Given the description of an element on the screen output the (x, y) to click on. 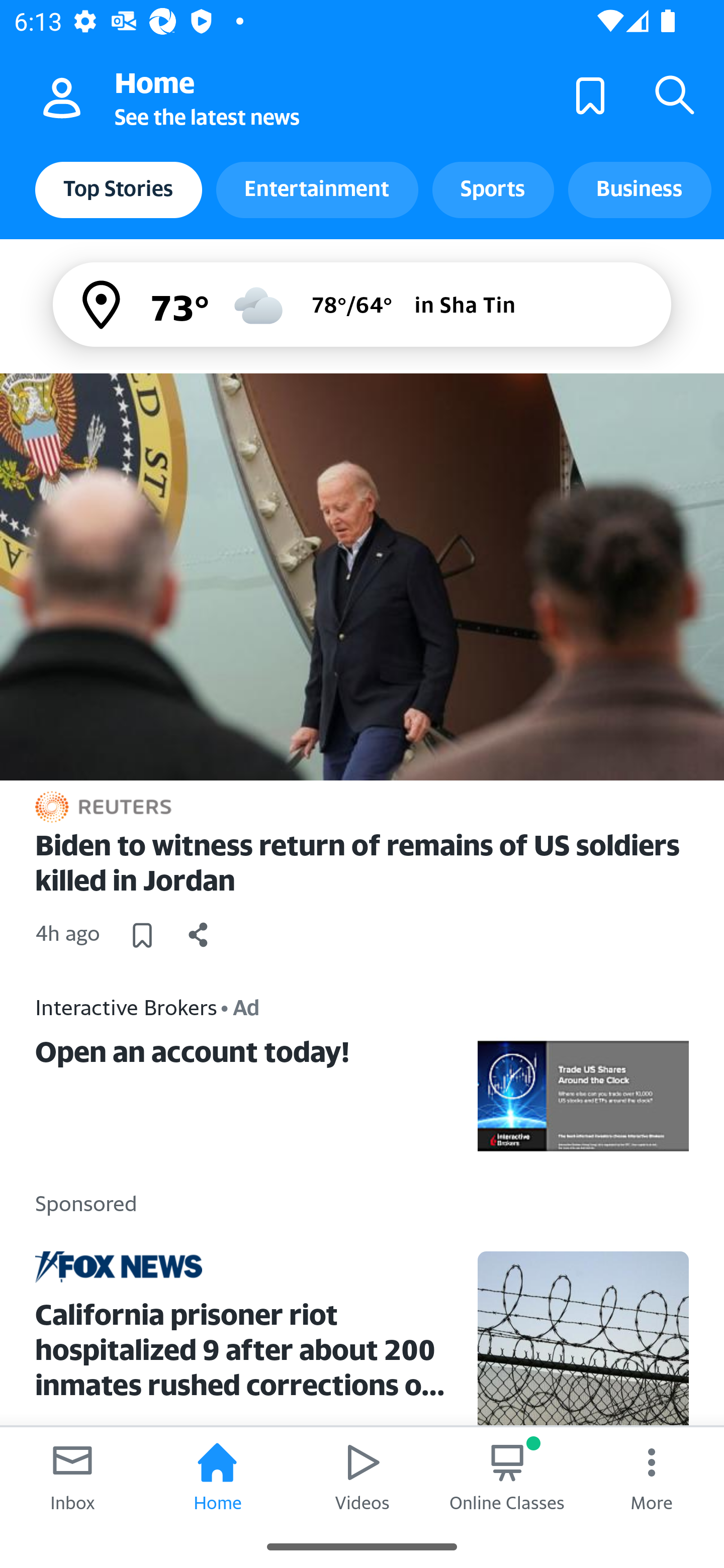
Access your saved articles (590, 94)
Search (674, 94)
Entertainment (317, 189)
Sports (492, 189)
Business (639, 189)
allow accurate location 73° 78°/64° in Sha Tin (361, 303)
allow accurate location (102, 304)
Save this article (142, 934)
Share this news article (198, 934)
• Ad (240, 1006)
Inbox (72, 1475)
Home (216, 1475)
Videos (361, 1475)
Online Classes (506, 1475)
More (651, 1475)
